Given the description of an element on the screen output the (x, y) to click on. 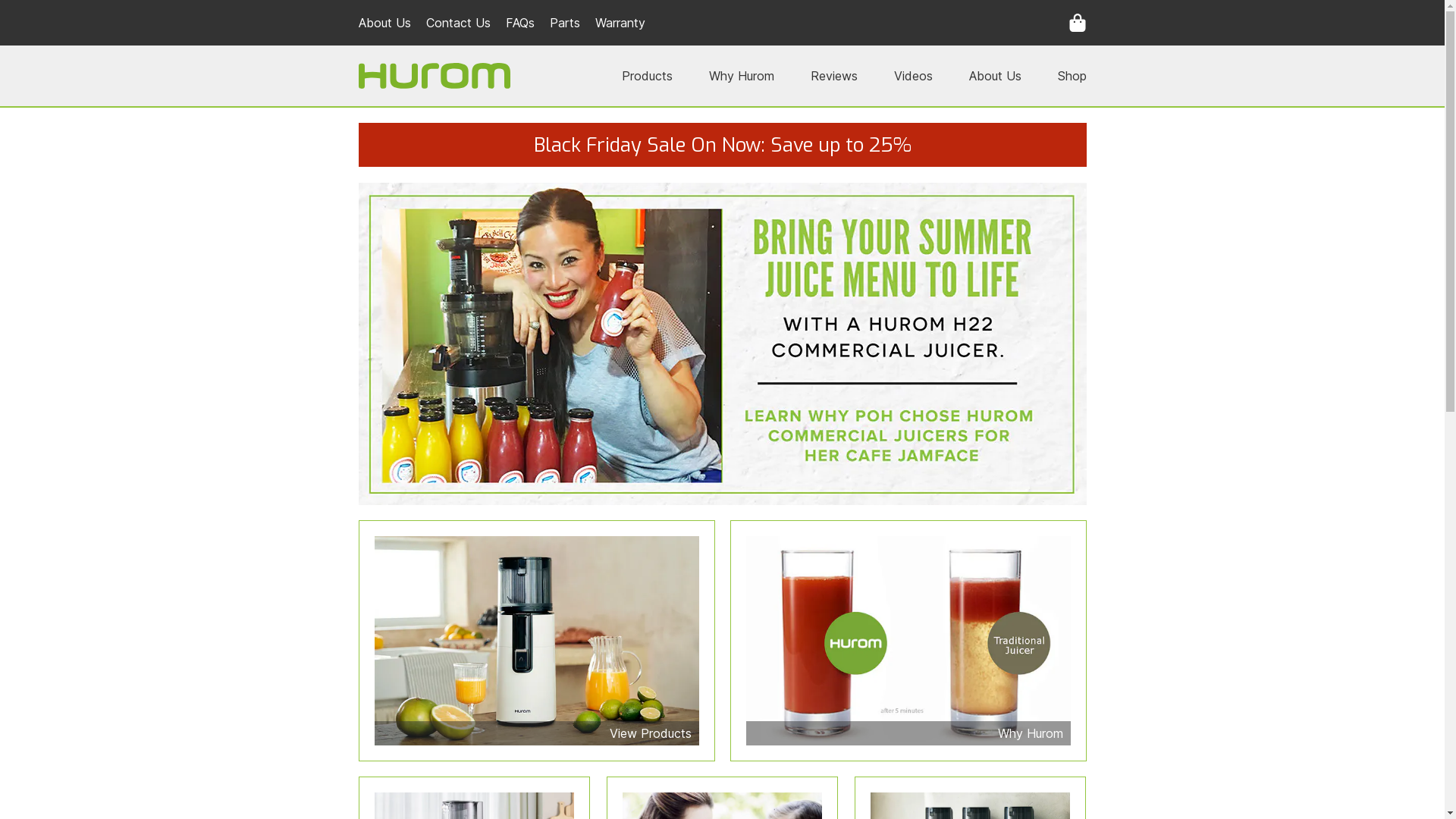
Videos Element type: text (912, 75)
Reviews Element type: text (832, 75)
Why Hurom Element type: text (740, 75)
Contact Us Element type: text (458, 22)
Products Element type: text (646, 75)
Warranty Element type: text (619, 22)
About Us Element type: text (995, 75)
Why Hurom Element type: text (907, 640)
FAQs Element type: text (519, 22)
Shop Element type: text (1071, 75)
Parts Element type: text (564, 22)
Black Friday Sale On Now: Save up to 25% Element type: text (721, 144)
View Products Element type: text (535, 640)
About Us Element type: text (383, 22)
